Given the description of an element on the screen output the (x, y) to click on. 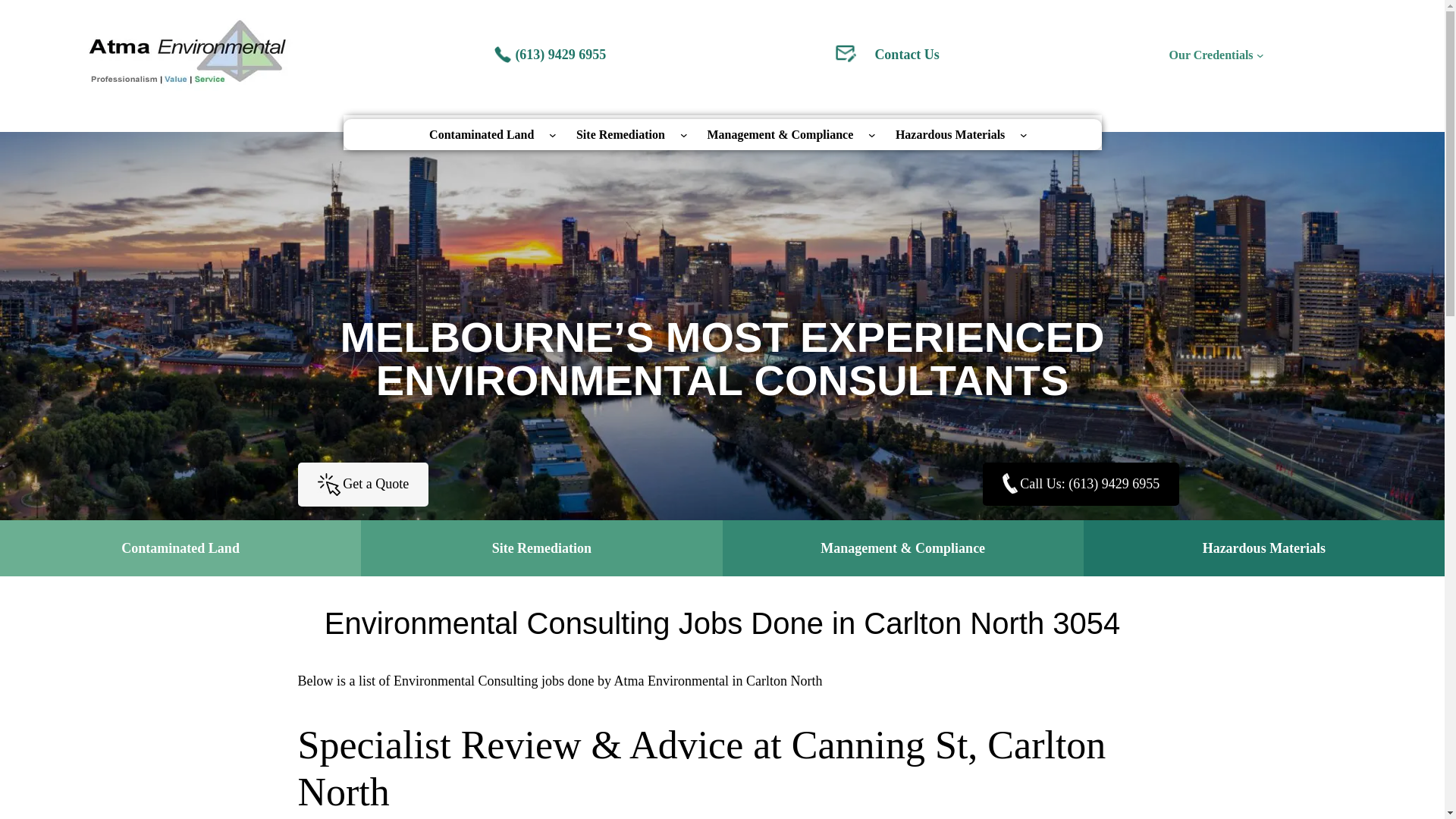
Contaminated Land (481, 133)
Site Remediation (620, 133)
Contact Us (907, 54)
Our Credentials (1211, 55)
